Given the description of an element on the screen output the (x, y) to click on. 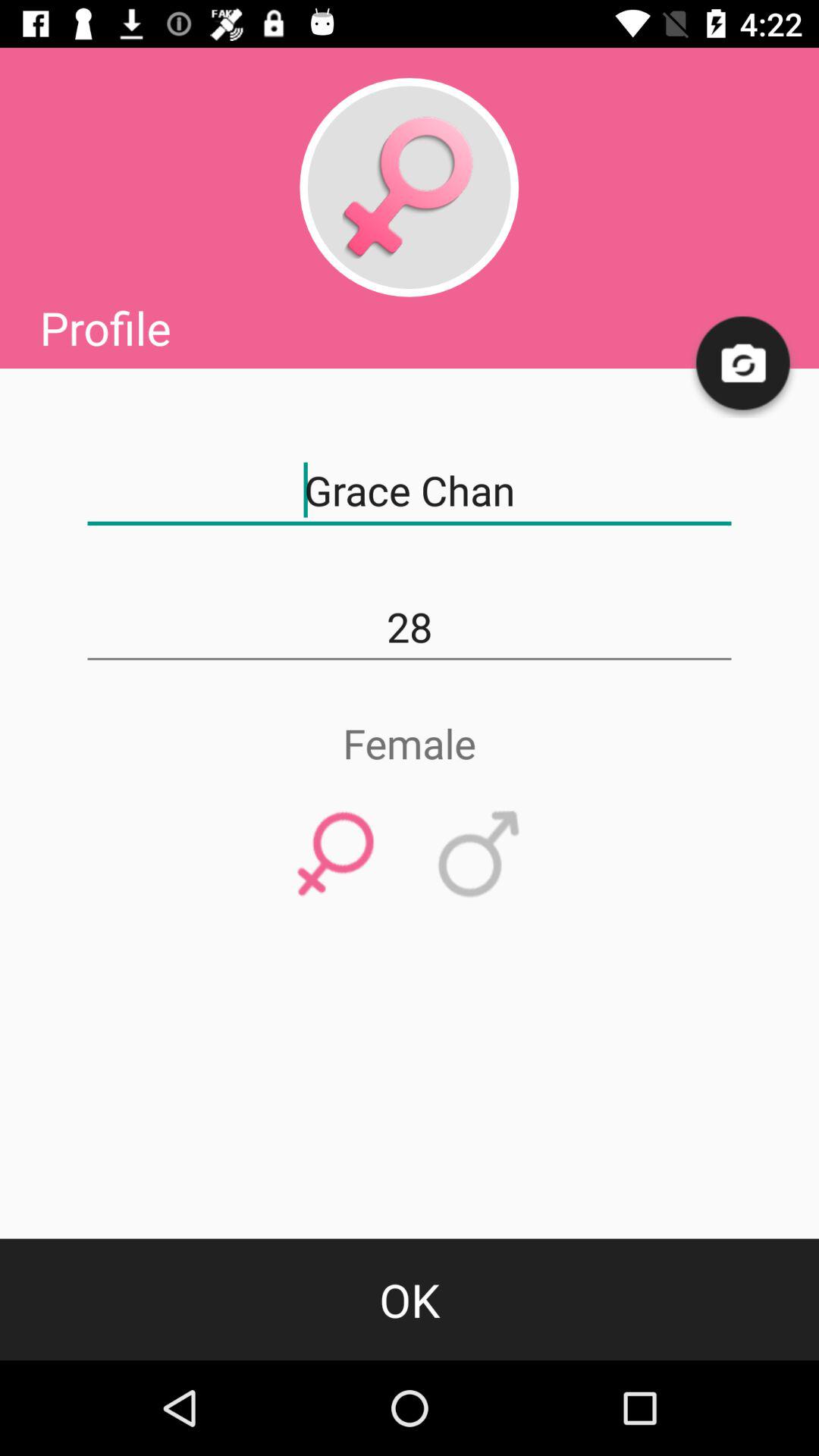
female profile (408, 186)
